Given the description of an element on the screen output the (x, y) to click on. 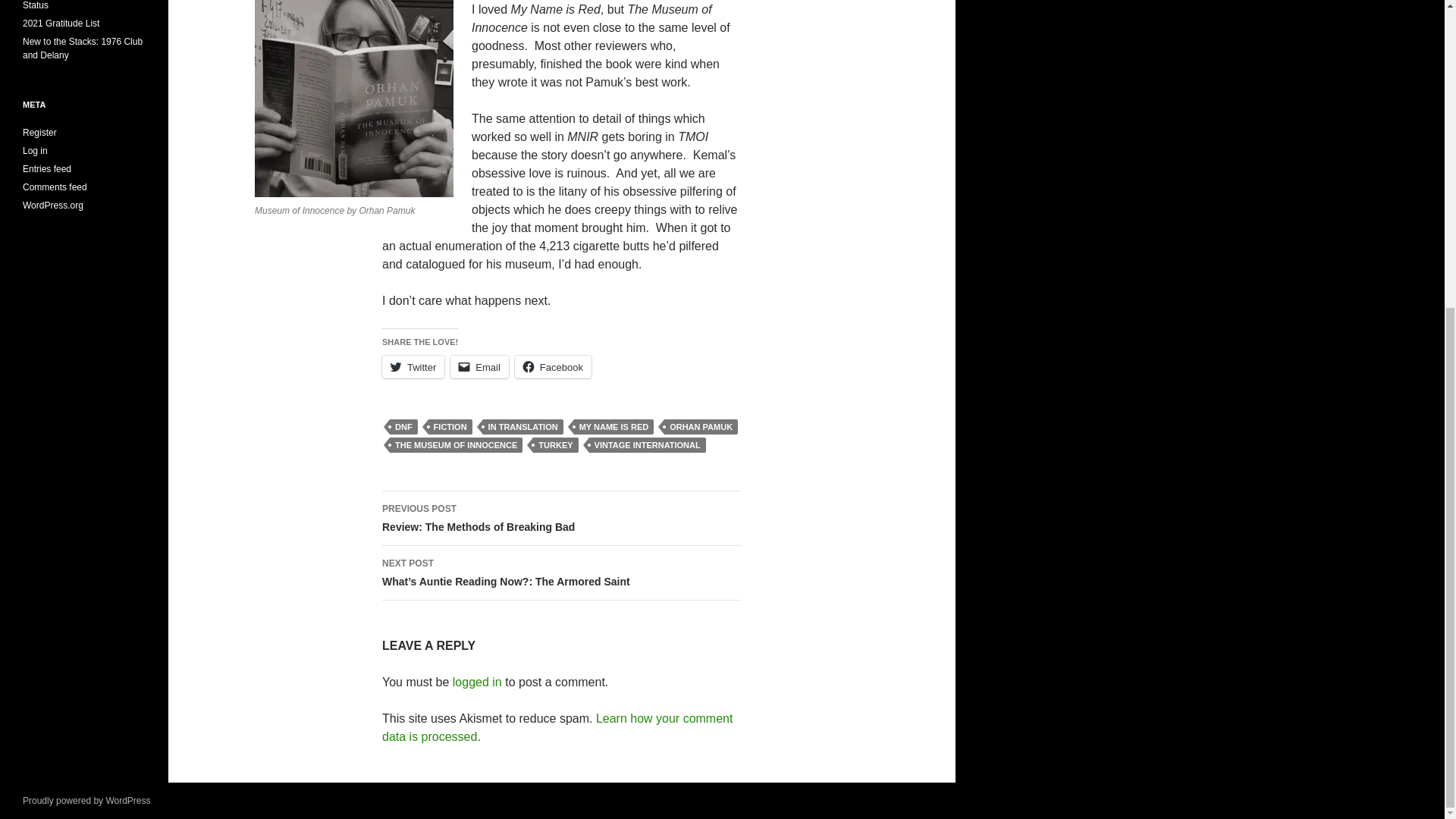
Status (35, 5)
Learn how your comment data is processed (556, 726)
2021 Gratitude List (61, 23)
THE MUSEUM OF INNOCENCE (456, 444)
Click to share on Facebook (553, 366)
TURKEY (555, 444)
Click to share on Twitter (412, 366)
MY NAME IS RED (613, 426)
ORHAN PAMUK (700, 426)
VINTAGE INTERNATIONAL (647, 444)
Comments feed (55, 186)
logged in (477, 681)
FICTION (449, 426)
Proudly powered by WordPress (87, 800)
Email (478, 366)
